Given the description of an element on the screen output the (x, y) to click on. 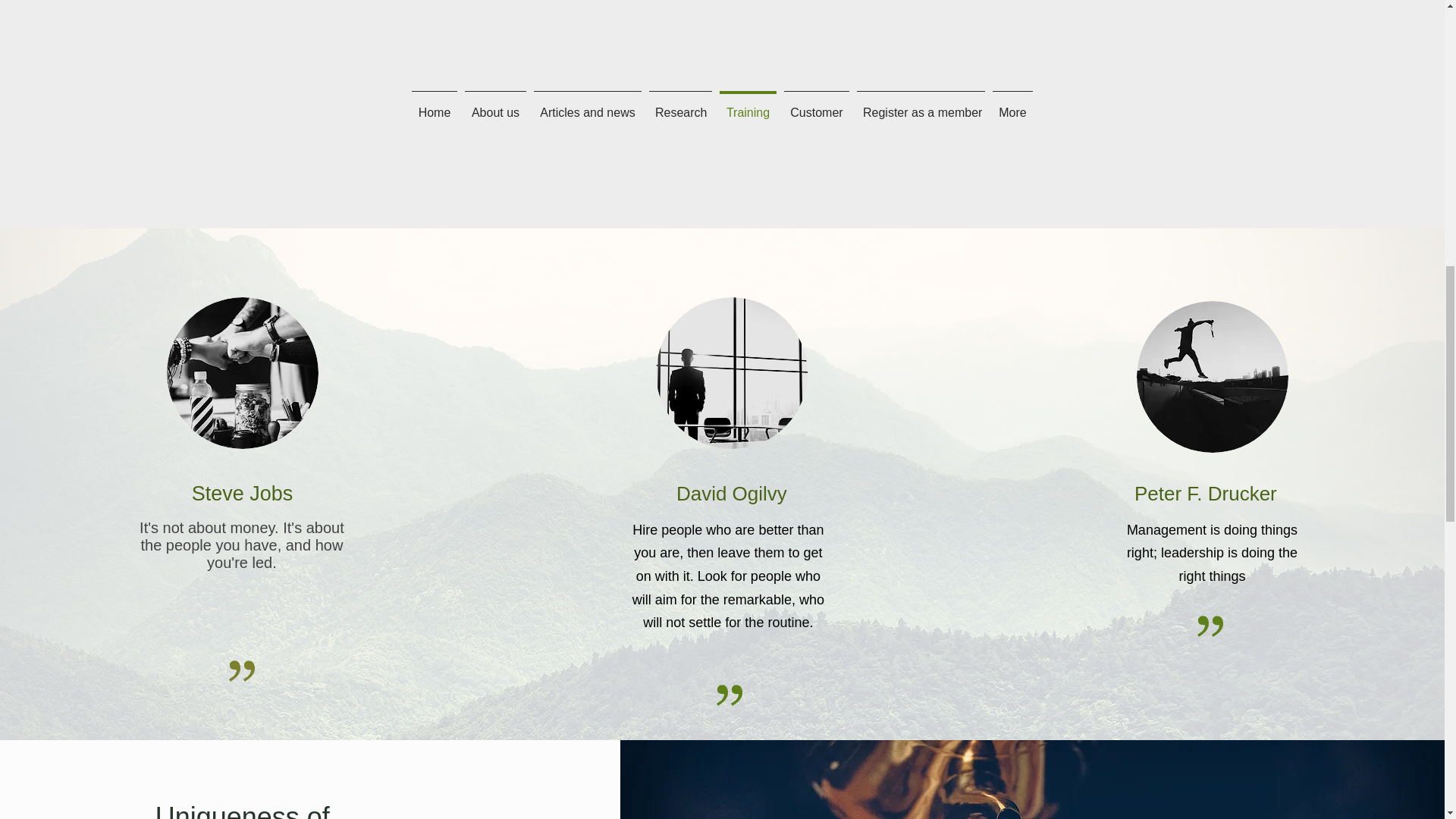
GettyImages-124893619.jpg (732, 372)
GettyImages-145680711.jpg (1212, 376)
GettyImages-535587703.jpg (242, 372)
